Given the description of an element on the screen output the (x, y) to click on. 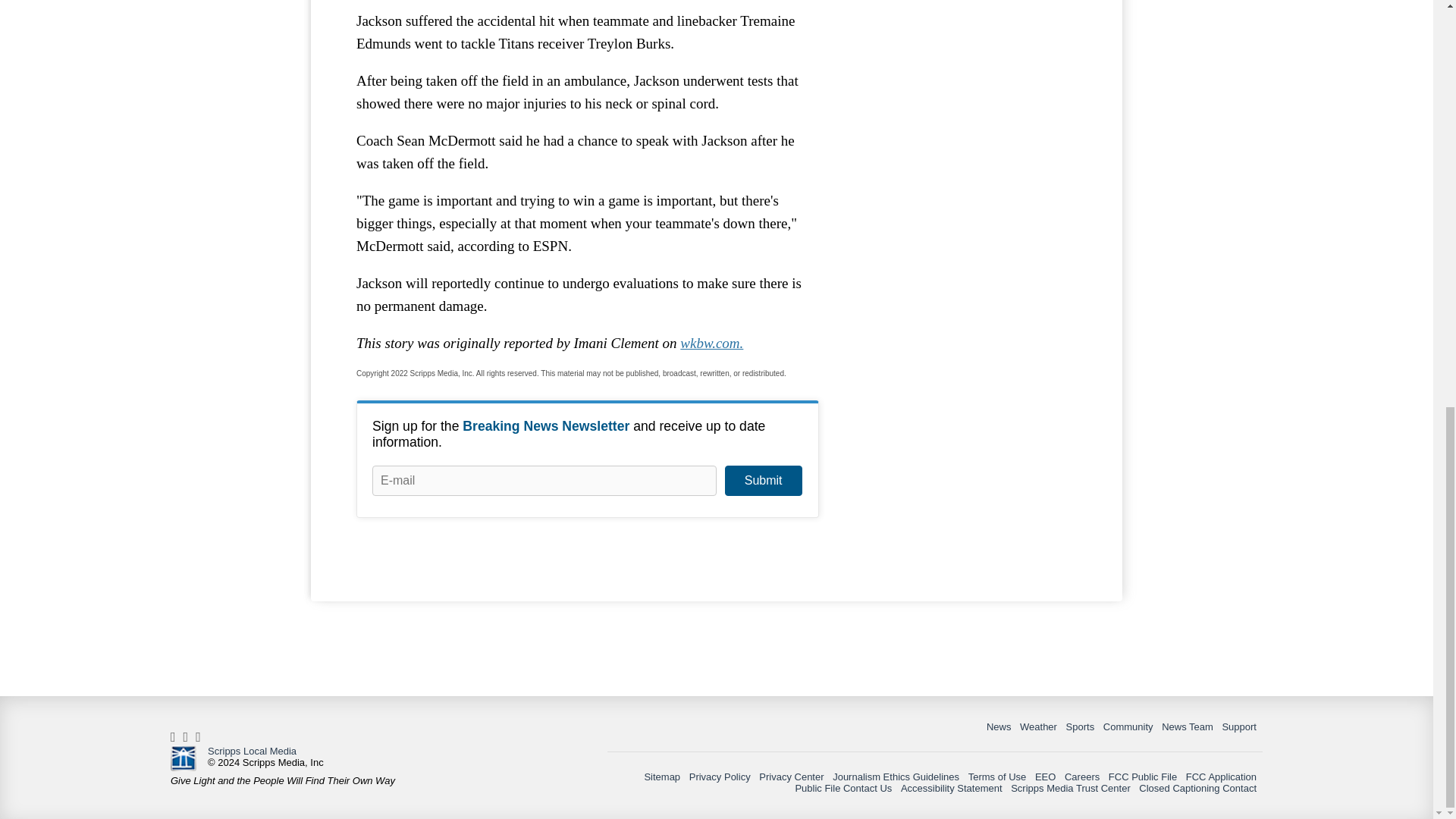
Submit (763, 481)
